Given the description of an element on the screen output the (x, y) to click on. 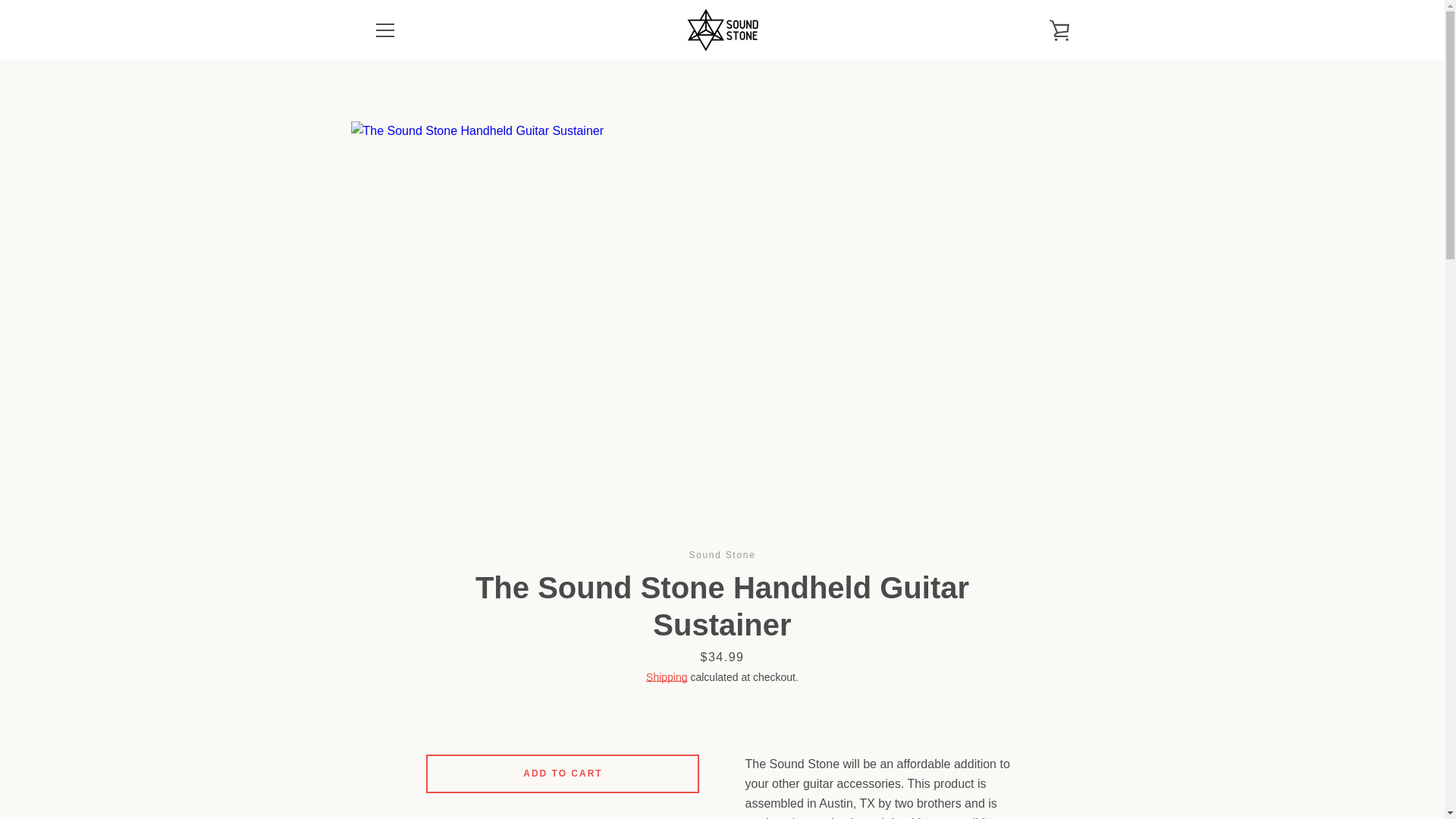
VIEW CART (1059, 30)
ADD TO CART (562, 773)
Shipping (666, 676)
MENU (384, 30)
